Given the description of an element on the screen output the (x, y) to click on. 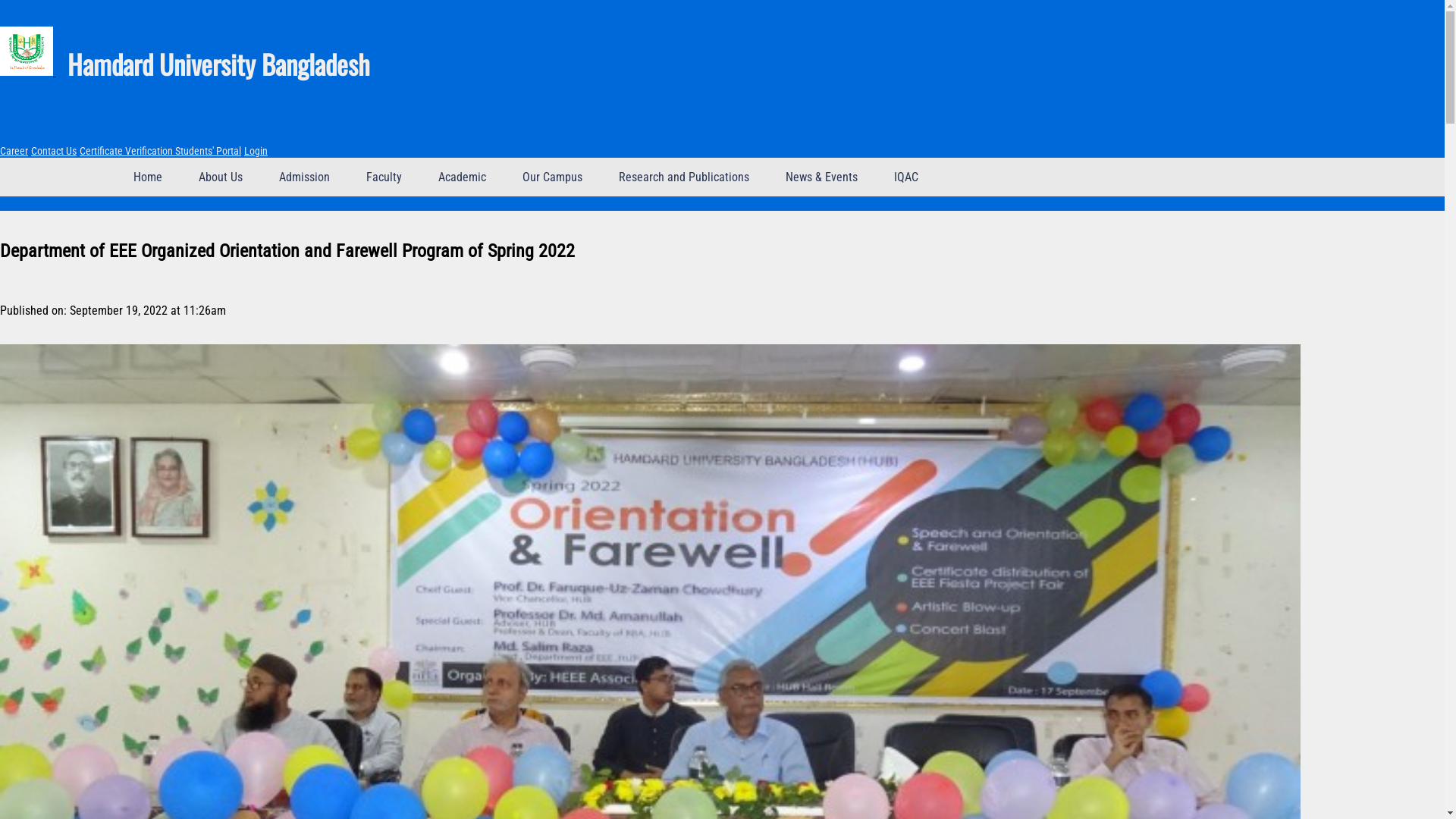
Certificate Verification Element type: text (127, 150)
Login Element type: text (255, 150)
IQAC Element type: text (905, 176)
Home Element type: text (147, 176)
Research and Publications Element type: text (683, 176)
Faculty Element type: text (384, 176)
Career Element type: text (14, 150)
News & Events Element type: text (821, 176)
Academic Element type: text (462, 176)
About Us Element type: text (220, 176)
Our Campus Element type: text (552, 176)
Contact Us Element type: text (53, 150)
Admission Element type: text (304, 176)
Students' Portal Element type: text (208, 150)
